Given the description of an element on the screen output the (x, y) to click on. 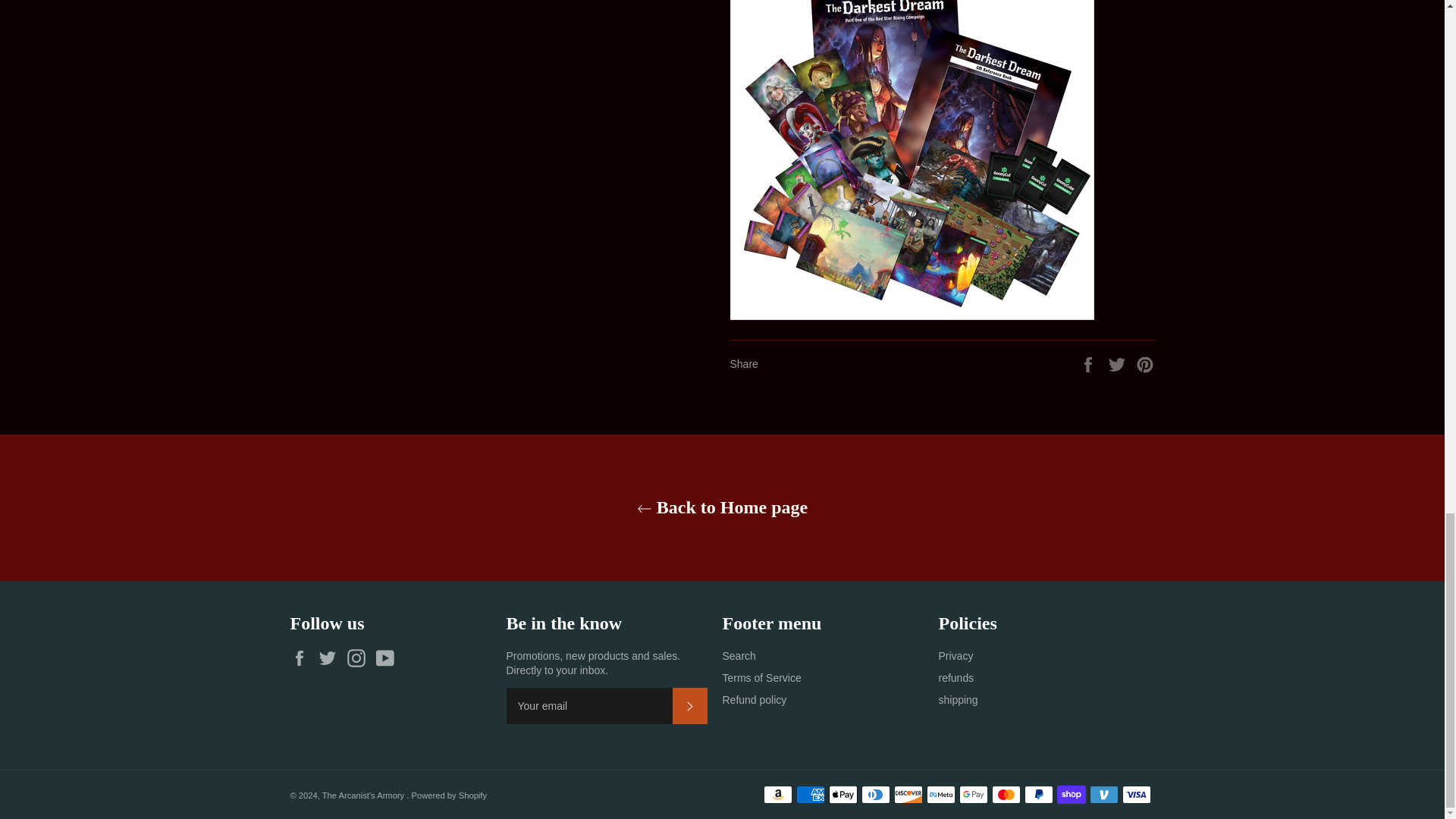
shipping (958, 699)
Privacy (956, 655)
YouTube (388, 658)
The Arcanist's Armory  on YouTube (388, 658)
The Arcanist's Armory  on Facebook (302, 658)
The Arcanist's Armory (364, 795)
The Arcanist's Armory  on Twitter (330, 658)
Tweet on Twitter (1118, 363)
refunds (956, 677)
The Arcanist's Armory  on Instagram (359, 658)
Subscribe (688, 705)
Terms of Service (761, 677)
Twitter (330, 658)
Refund policy (754, 699)
Back to Home page (721, 507)
